Given the description of an element on the screen output the (x, y) to click on. 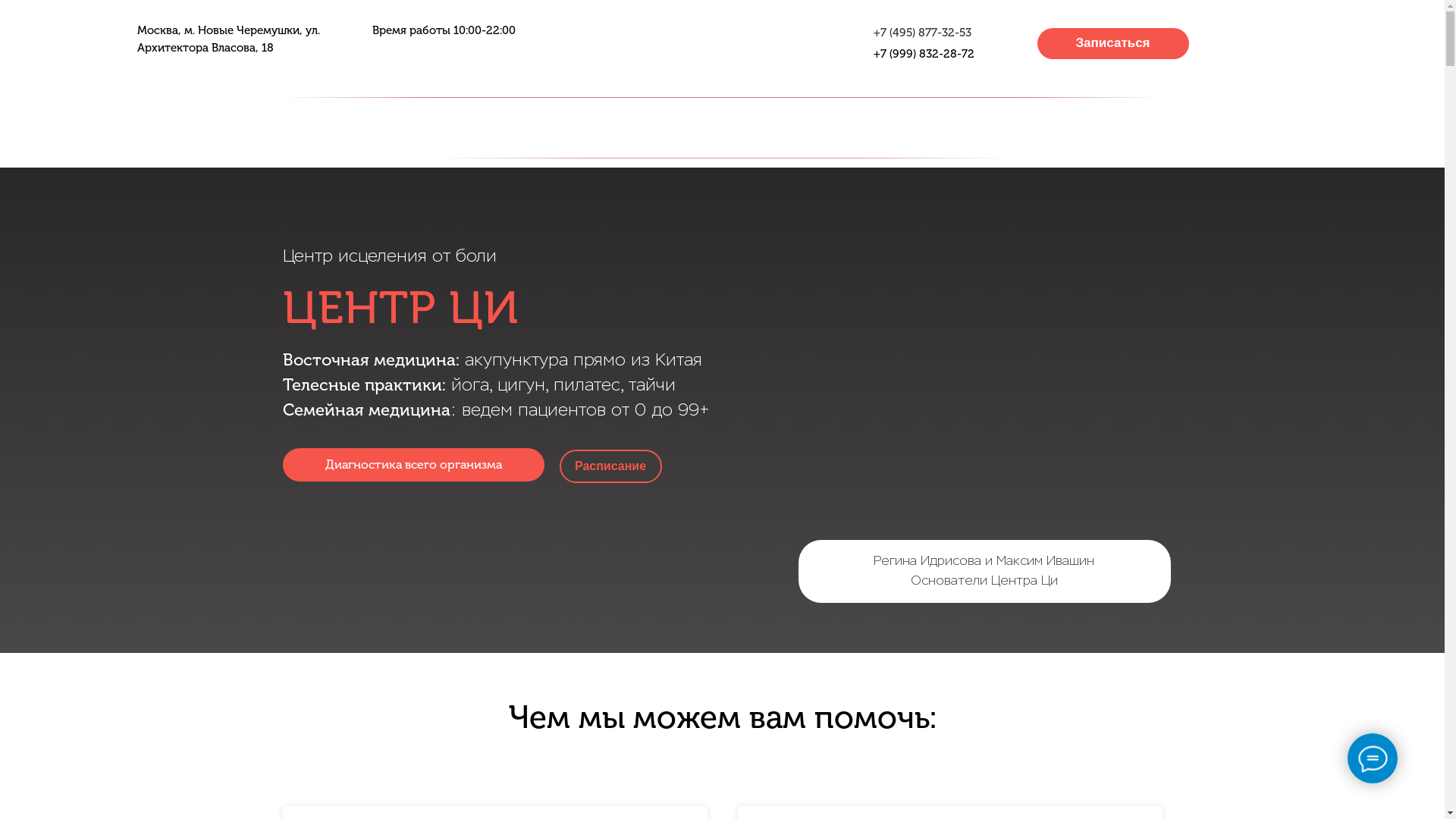
+7 (495) 877-32-53 Element type: text (922, 32)
+7 (999) 832-28-72 Element type: text (923, 53)
